Given the description of an element on the screen output the (x, y) to click on. 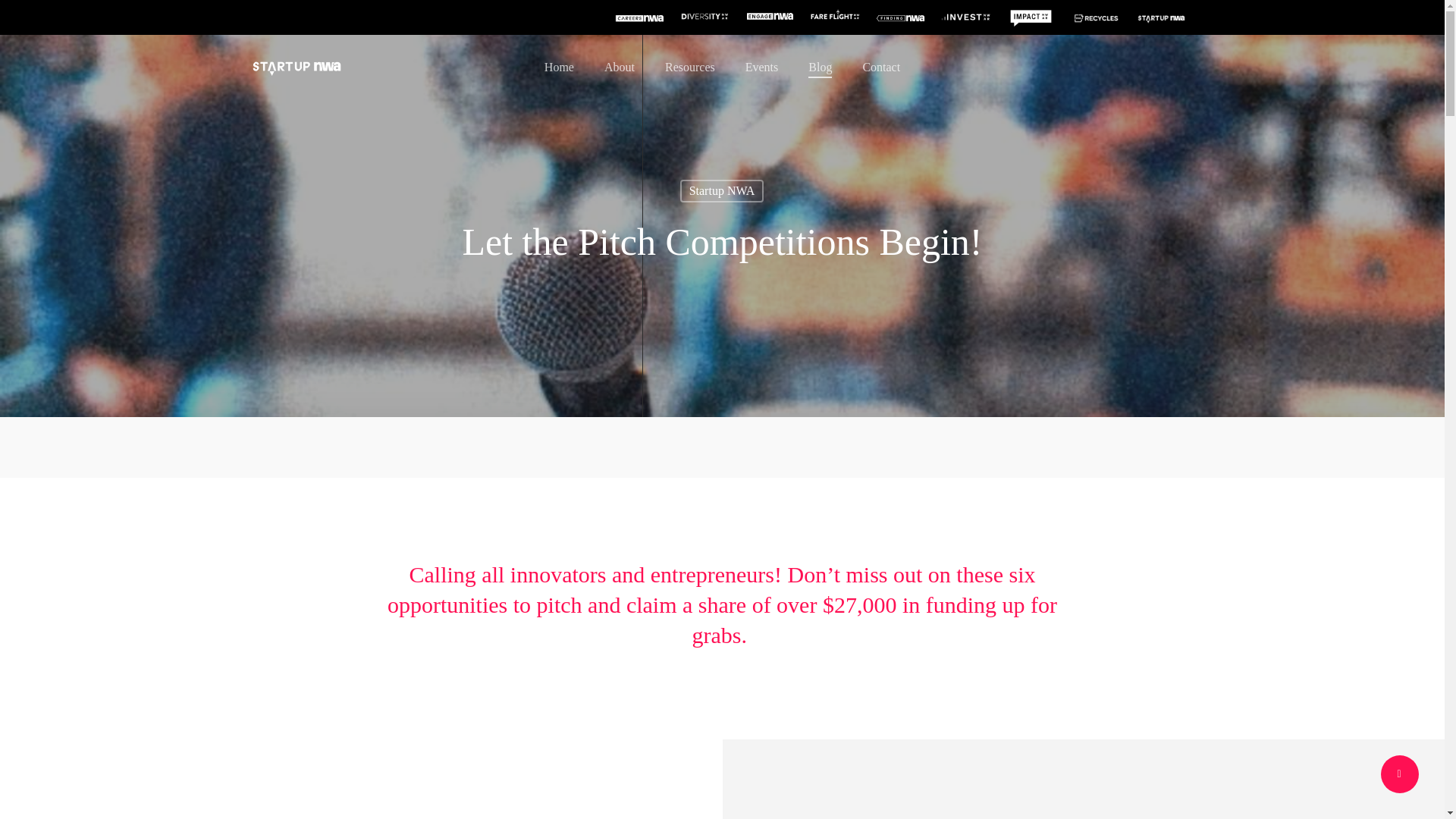
Home (558, 67)
Contact (880, 67)
About (619, 67)
Resources (689, 67)
Blog (819, 67)
Events (761, 67)
Startup NWA (721, 190)
